Given the description of an element on the screen output the (x, y) to click on. 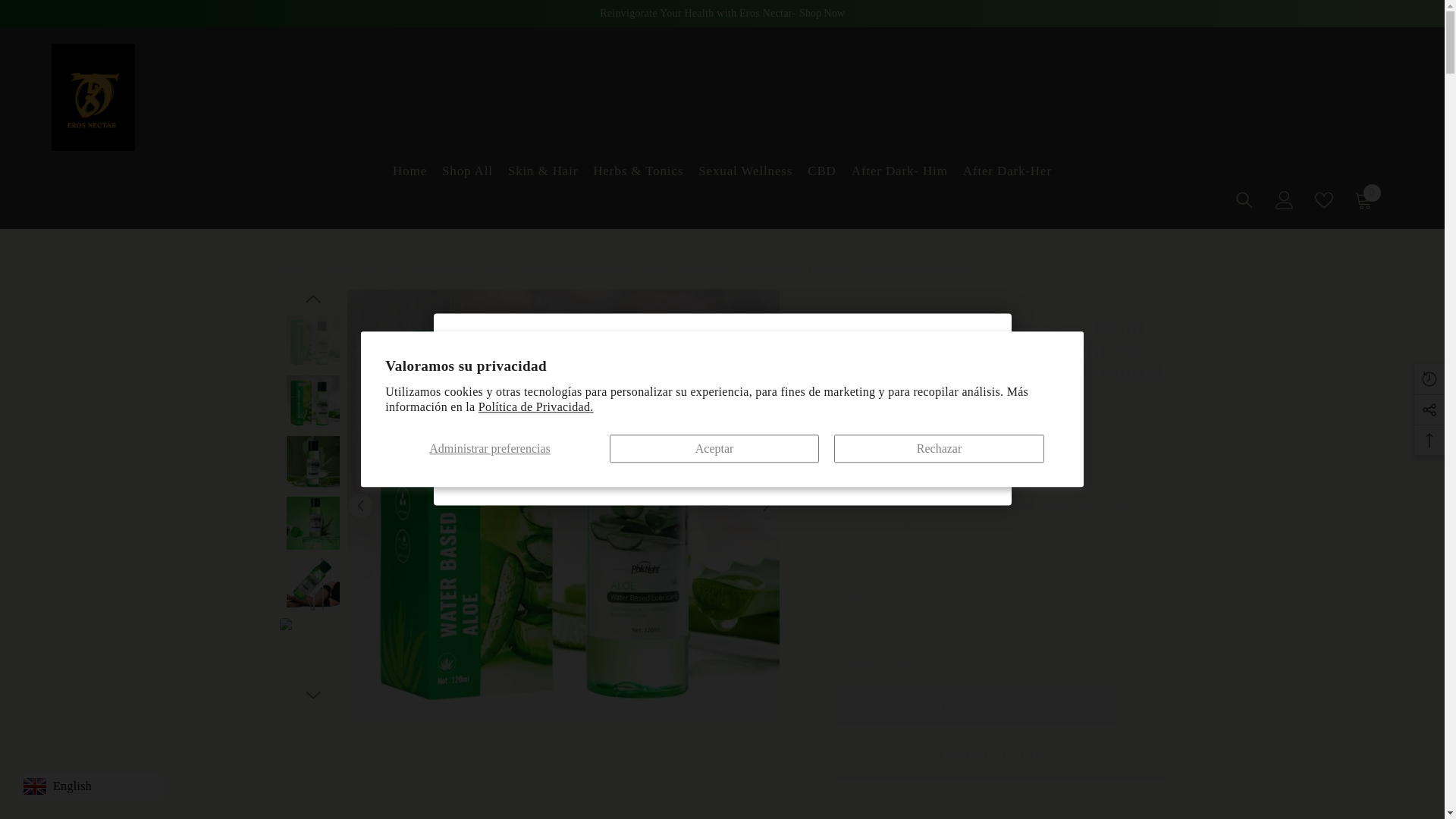
After Dark- Him (899, 175)
After Dark-Her (1007, 175)
Rechazar (938, 448)
Administrar preferencias (1363, 199)
Add to wishlist (489, 448)
Wish Lists (1146, 706)
Log in (1323, 199)
Sexual Wellness (1284, 199)
CBD (744, 175)
COMPRAR AHORA (821, 175)
Home (999, 755)
